Given the description of an element on the screen output the (x, y) to click on. 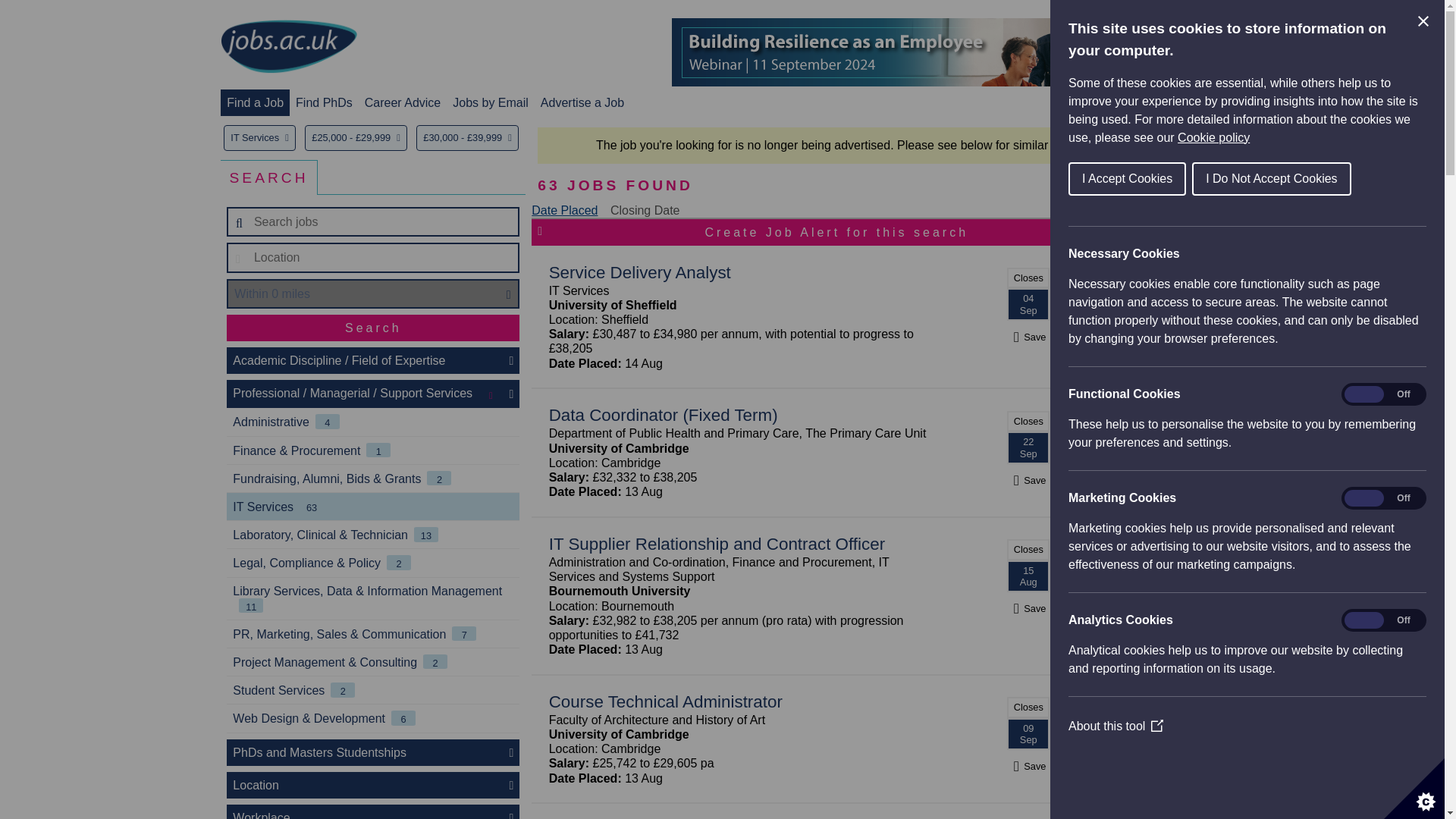
Date Placed (563, 210)
Jobs by Email (490, 102)
Your Account (1106, 102)
Save job (1027, 336)
Search (373, 327)
Save job (1027, 608)
Cookie policy (1329, 137)
home page (288, 47)
I Accept Cookies (1165, 178)
Advertise a Job (582, 102)
